Given the description of an element on the screen output the (x, y) to click on. 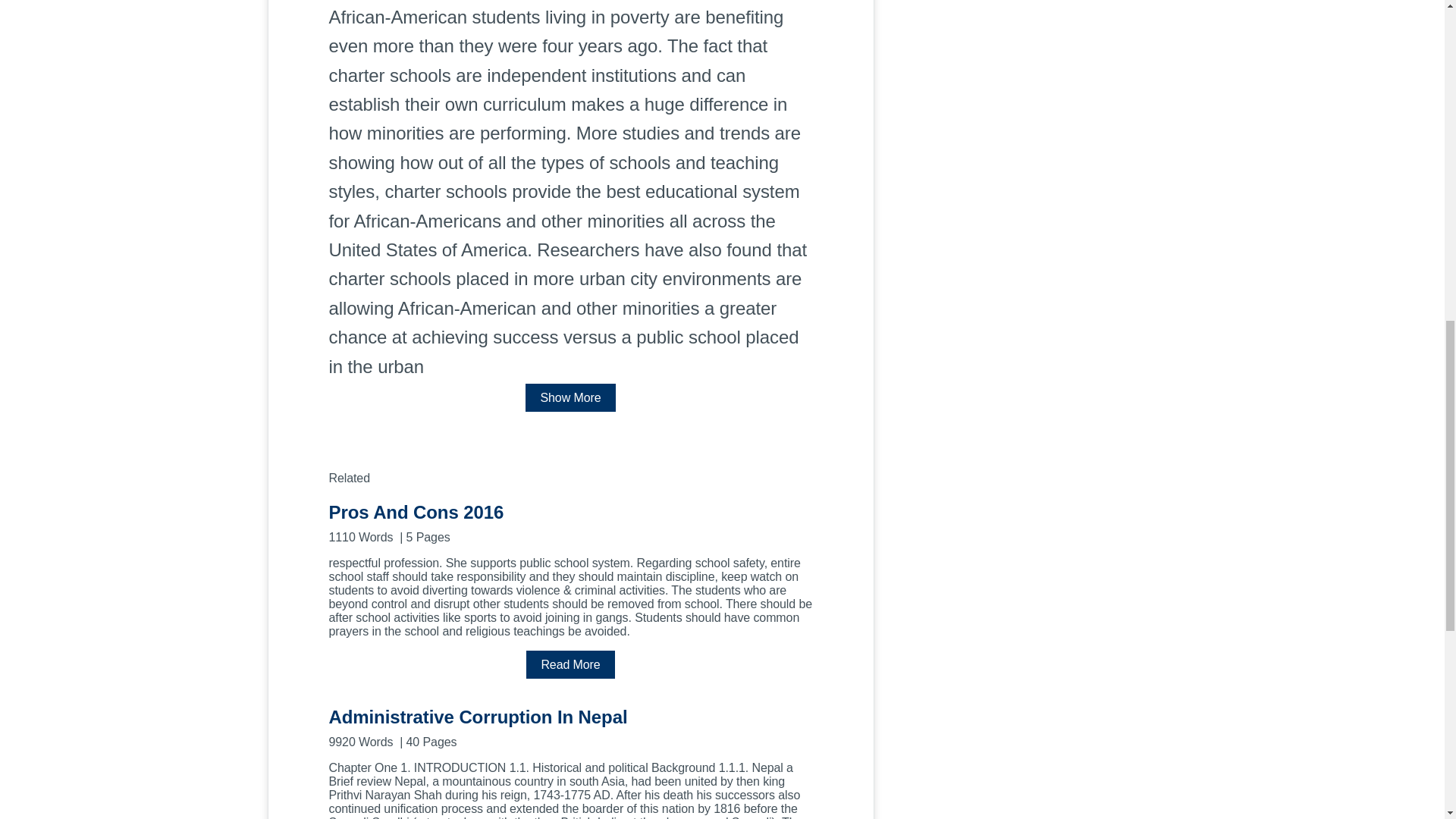
Pros And Cons 2016 (570, 521)
Show More (569, 397)
Administrative Corruption In Nepal (570, 726)
Read More (569, 664)
